Given the description of an element on the screen output the (x, y) to click on. 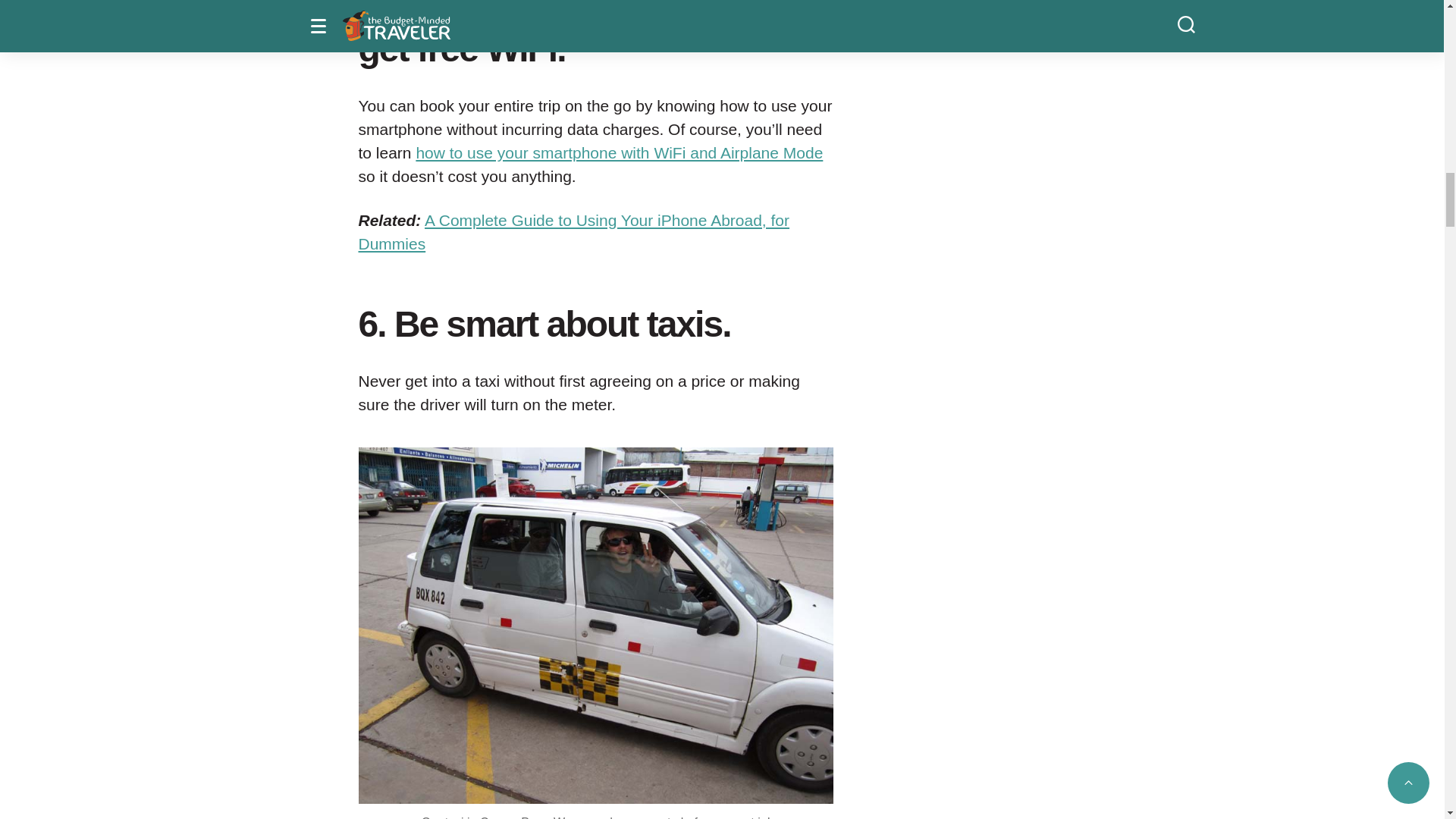
Using Your iPhone Abroad with WiFi and Airplane Mode (618, 152)
how to use your smartphone with WiFi and Airplane Mode (618, 152)
A Complete Guide to Using Your iPhone Abroad, for Dummies (573, 231)
A Complete Guide to Using Your iPhone Abroad: For Dummies (573, 231)
